Given the description of an element on the screen output the (x, y) to click on. 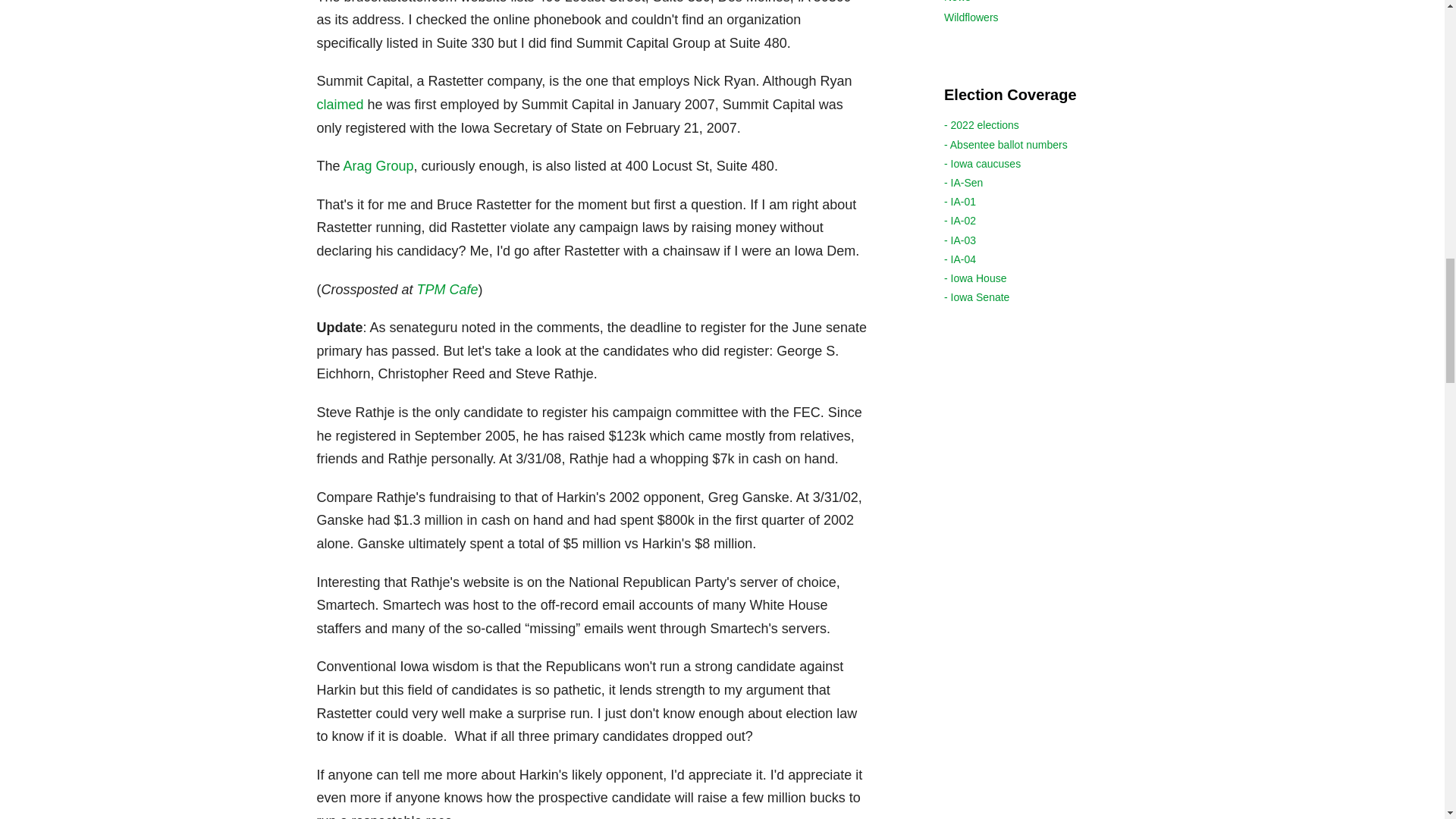
Arag Group (378, 165)
claimed (340, 104)
TPM Cafe (447, 289)
